Given the description of an element on the screen output the (x, y) to click on. 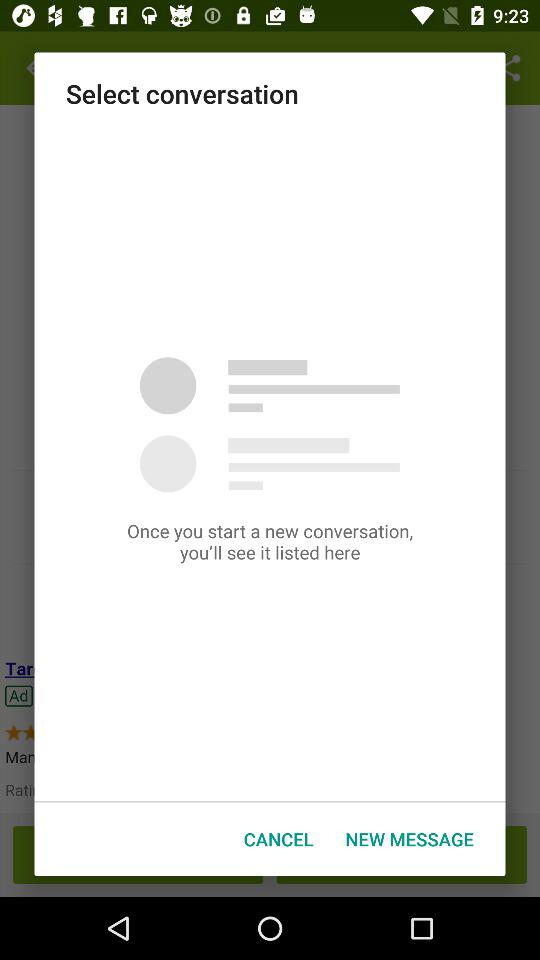
press cancel icon (278, 838)
